Given the description of an element on the screen output the (x, y) to click on. 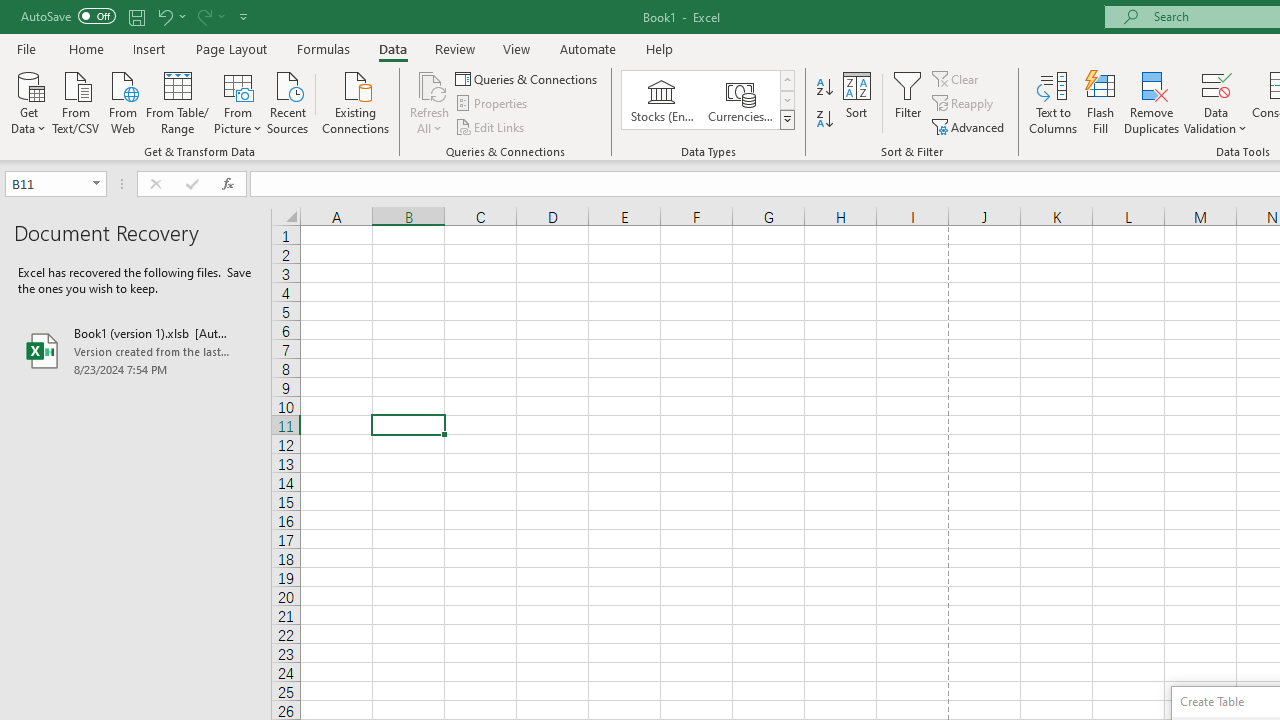
From Picture (238, 101)
Sort Z to A (824, 119)
Existing Connections (355, 101)
Filter (908, 102)
View (517, 48)
Data Types (786, 120)
Data Validation... (1215, 84)
Book1 (version 1).xlsb  [AutoRecovered] (136, 350)
Refresh All (429, 102)
File Tab (26, 48)
Properties (492, 103)
